Given the description of an element on the screen output the (x, y) to click on. 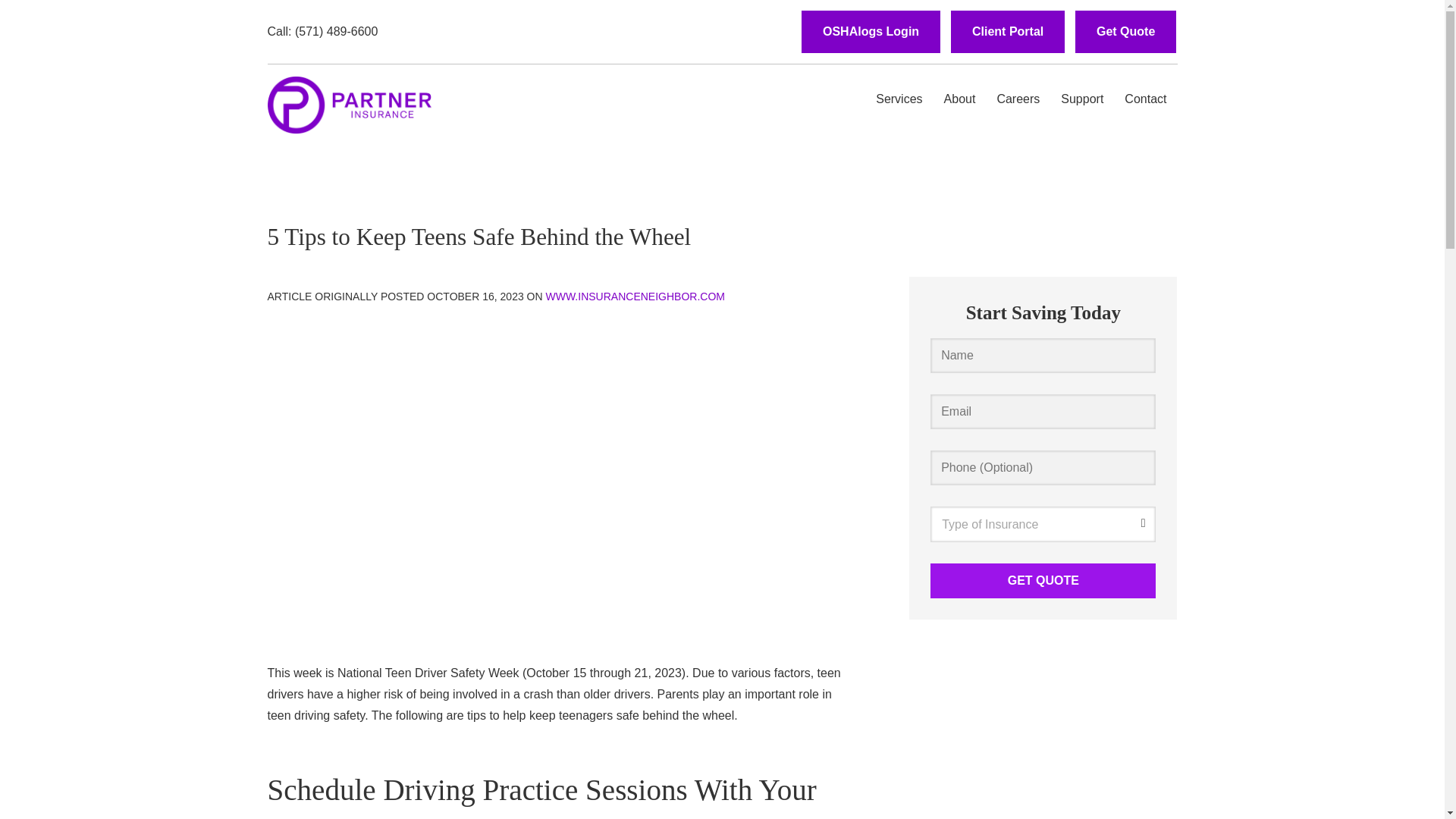
Get Quote (1043, 580)
Partner Insurance Logo (349, 105)
Get Quote (1125, 31)
Home Page (349, 99)
Services (898, 98)
Careers (1017, 98)
Support (1081, 98)
About (960, 98)
